Given the description of an element on the screen output the (x, y) to click on. 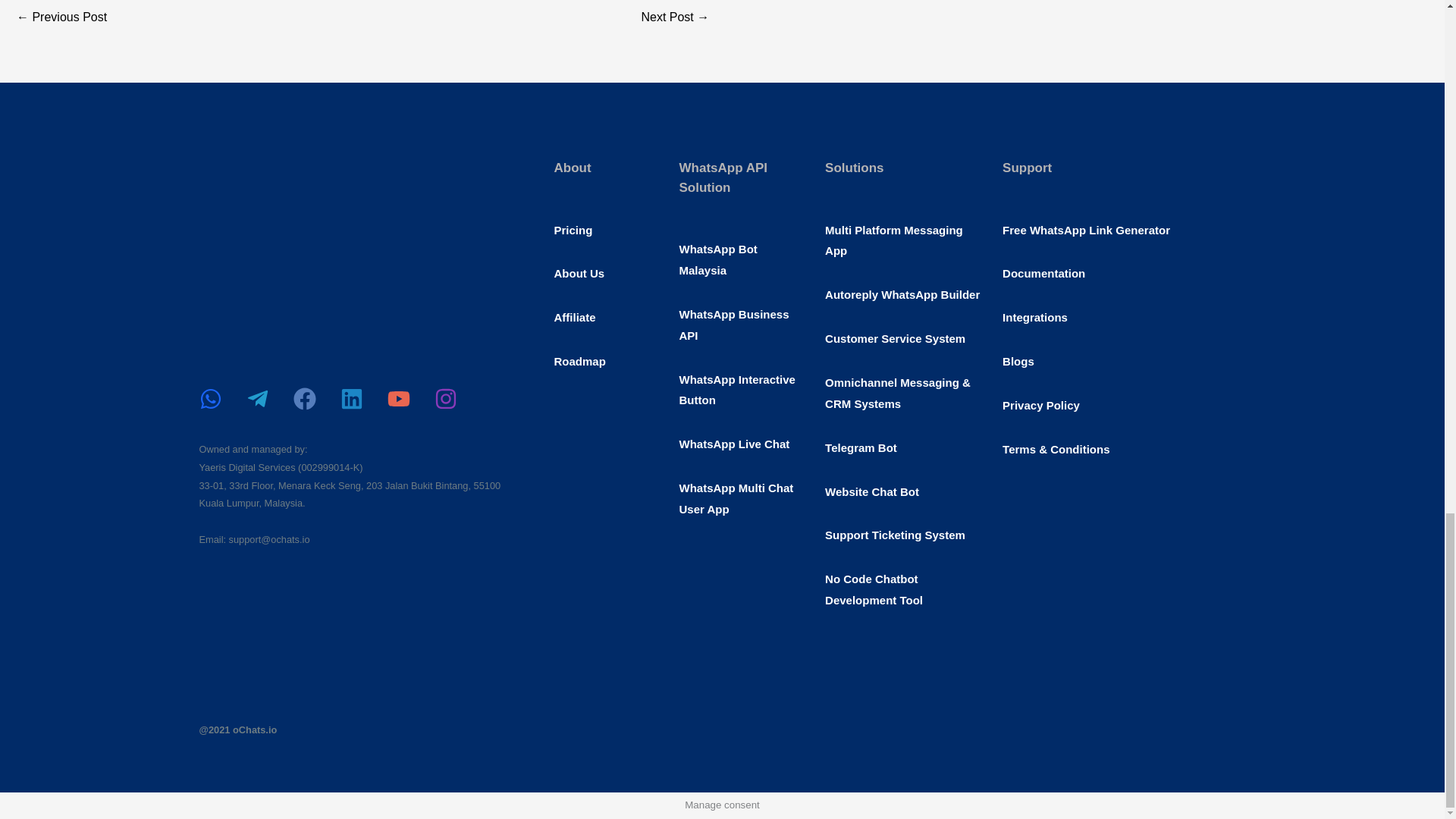
How to Grow Your Business with oChats? (61, 18)
